Given the description of an element on the screen output the (x, y) to click on. 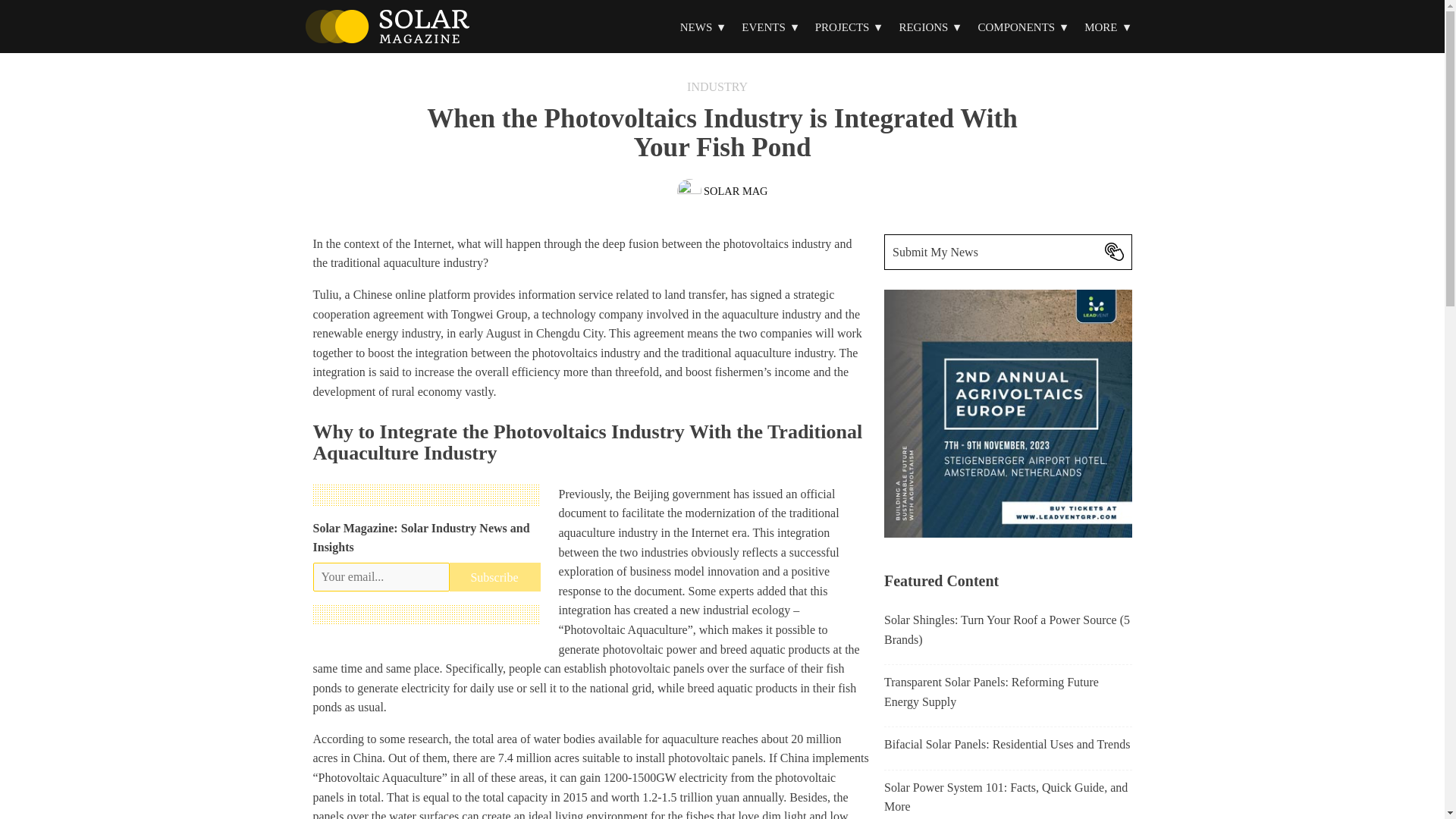
PROJECTS (849, 27)
View more articles by SOLAR MAG (722, 191)
Bifacial Solar Panels: Residential Uses and Trends (1006, 748)
Transparent Solar Panels: Reforming Future Energy Supply (1007, 695)
COMPONENTS (1023, 27)
MORE (1107, 27)
NEWS (703, 27)
Solar Power System 101: Facts, Quick Guide, and More (1007, 798)
REGIONS (930, 27)
EVENTS (770, 27)
